Given the description of an element on the screen output the (x, y) to click on. 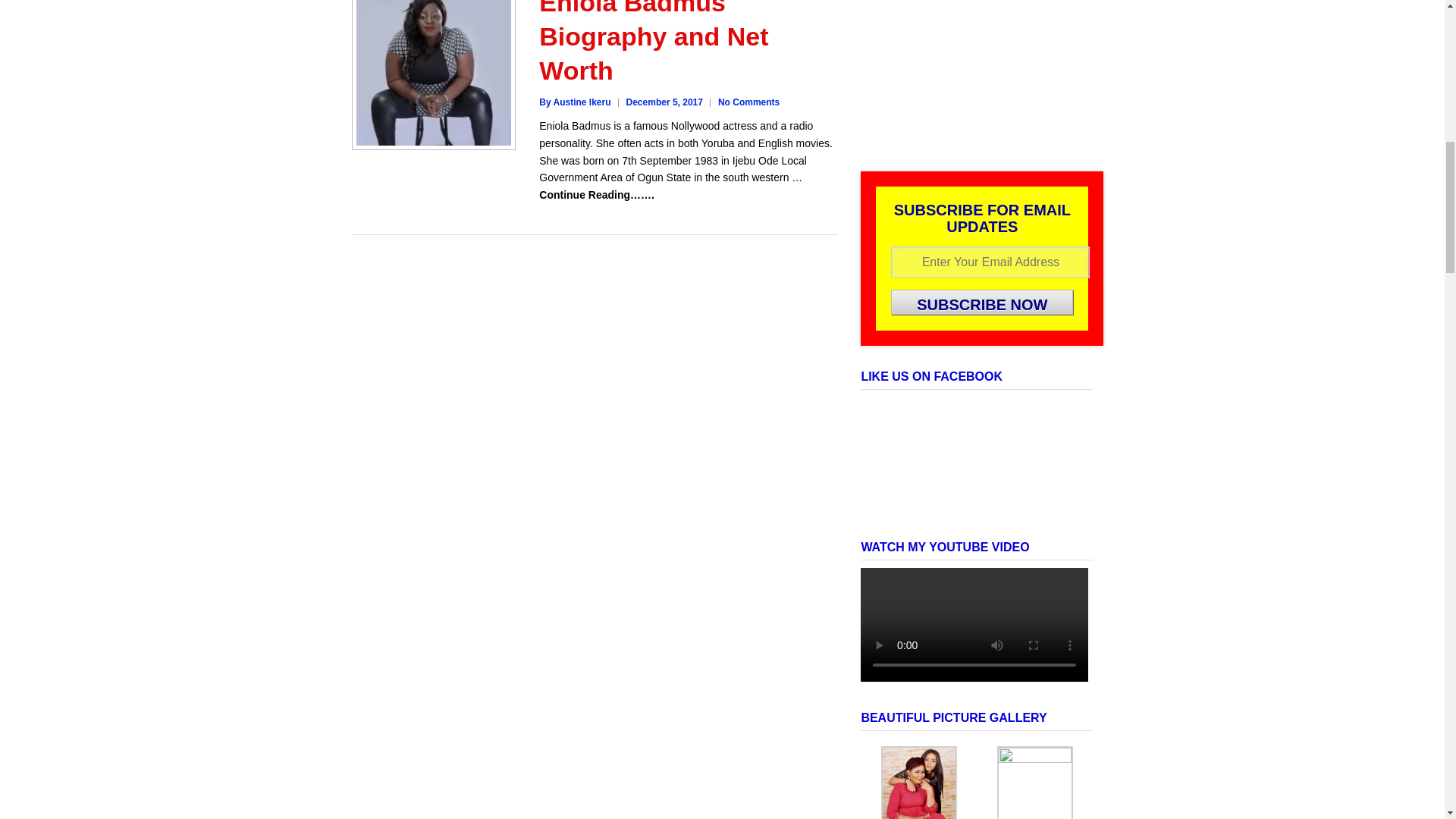
Austine Ikeru (574, 102)
SUBSCRIBE NOW (982, 301)
Eniola Badmus Biography and Net Worth (653, 42)
No Comments (747, 102)
SUBSCRIBE NOW (982, 301)
By Austine Ikeru (574, 102)
